Given the description of an element on the screen output the (x, y) to click on. 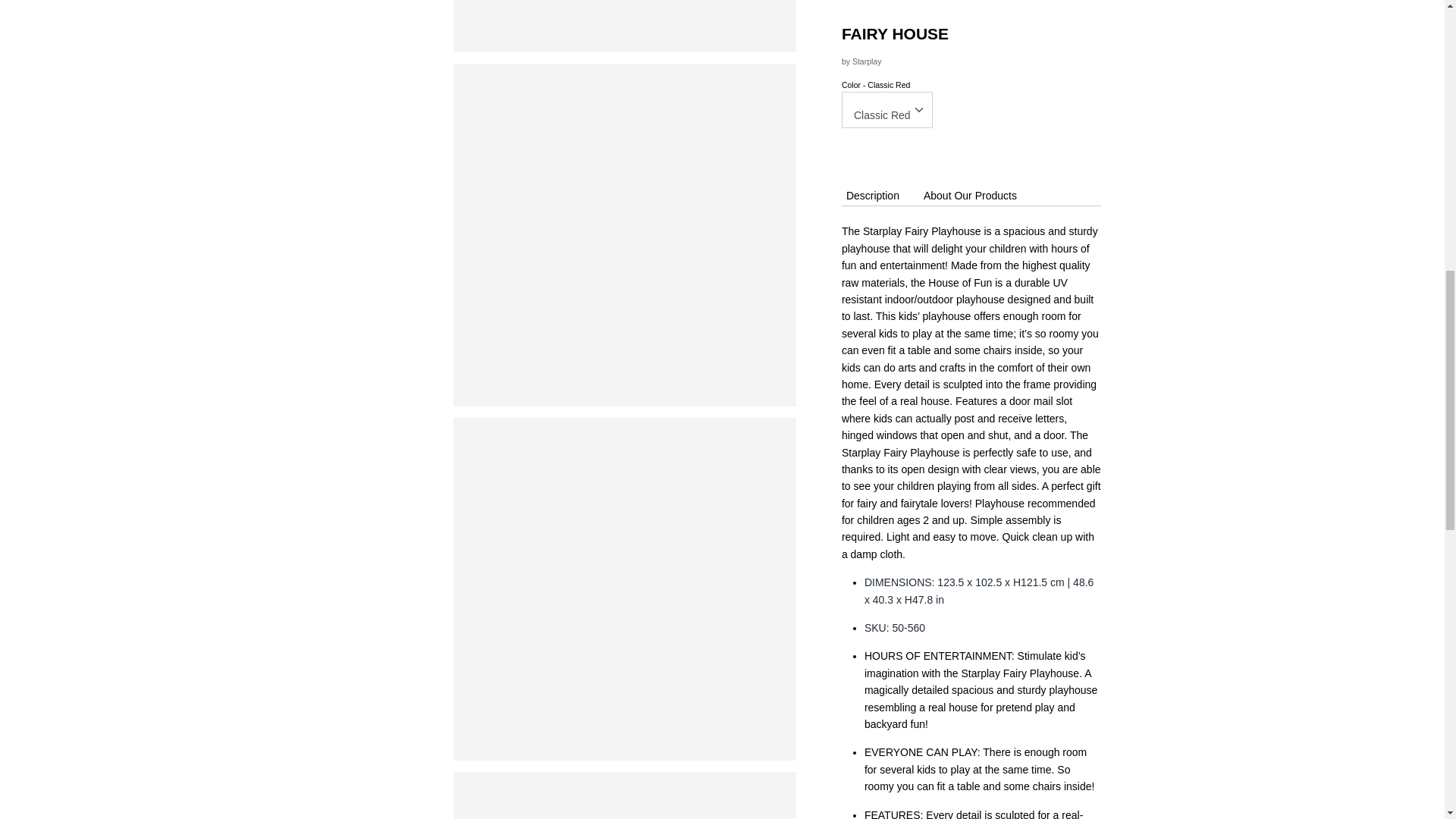
Fairy house by starplay assembly instruction pdf (971, 451)
